Given the description of an element on the screen output the (x, y) to click on. 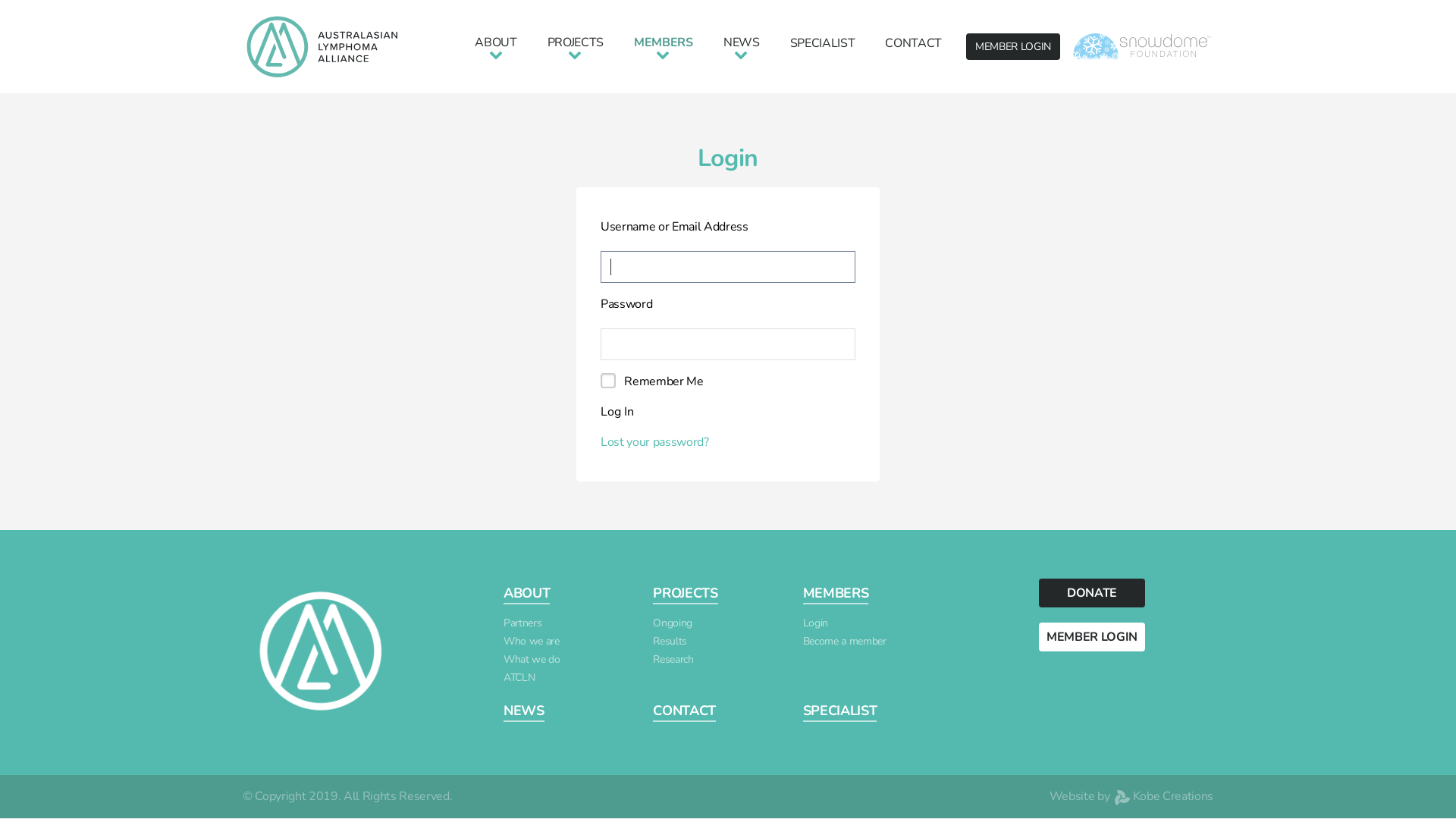
Become a member Element type: text (844, 640)
MEMBERS Element type: text (663, 46)
Who we are Element type: text (531, 640)
ABOUT Element type: text (526, 593)
ABOUT Element type: text (495, 46)
CONTACT Element type: text (912, 42)
SPECIALIST Element type: text (822, 42)
Lost your password? Element type: text (654, 441)
PROJECTS Element type: text (684, 593)
Ongoing Element type: text (672, 622)
MEMBER LOGIN Element type: text (1013, 46)
Results Element type: text (669, 640)
Partners Element type: text (522, 622)
Log In Element type: text (616, 411)
DONATE Element type: text (1091, 592)
MEMBER LOGIN Element type: text (1091, 636)
NEWS Element type: text (741, 46)
Login Element type: text (815, 622)
Research Element type: text (672, 659)
SPECIALIST Element type: text (840, 711)
NEWS Element type: text (523, 711)
Website by Kobe Creations Element type: text (1131, 795)
ATCLN Element type: text (518, 677)
CONTACT Element type: text (683, 711)
MEMBERS Element type: text (836, 593)
What we do Element type: text (531, 659)
PROJECTS Element type: text (575, 46)
